Given the description of an element on the screen output the (x, y) to click on. 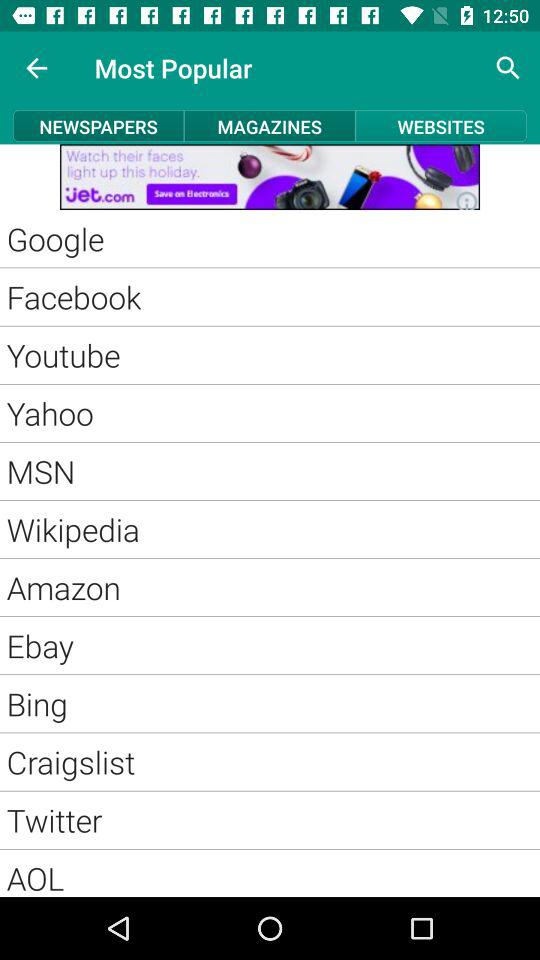
view advertisement (270, 177)
